Given the description of an element on the screen output the (x, y) to click on. 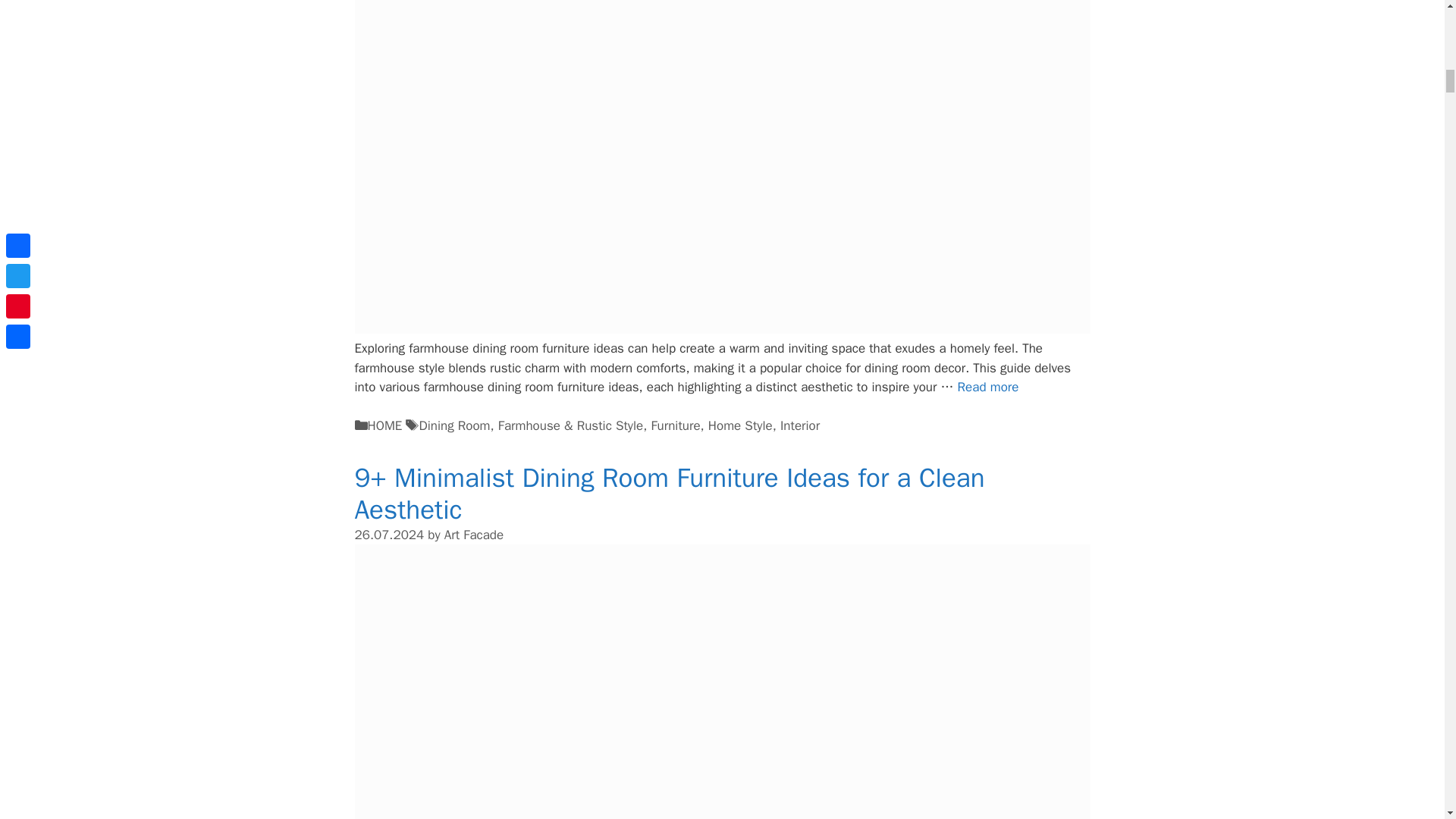
View all posts by Art Facade (473, 534)
